Given the description of an element on the screen output the (x, y) to click on. 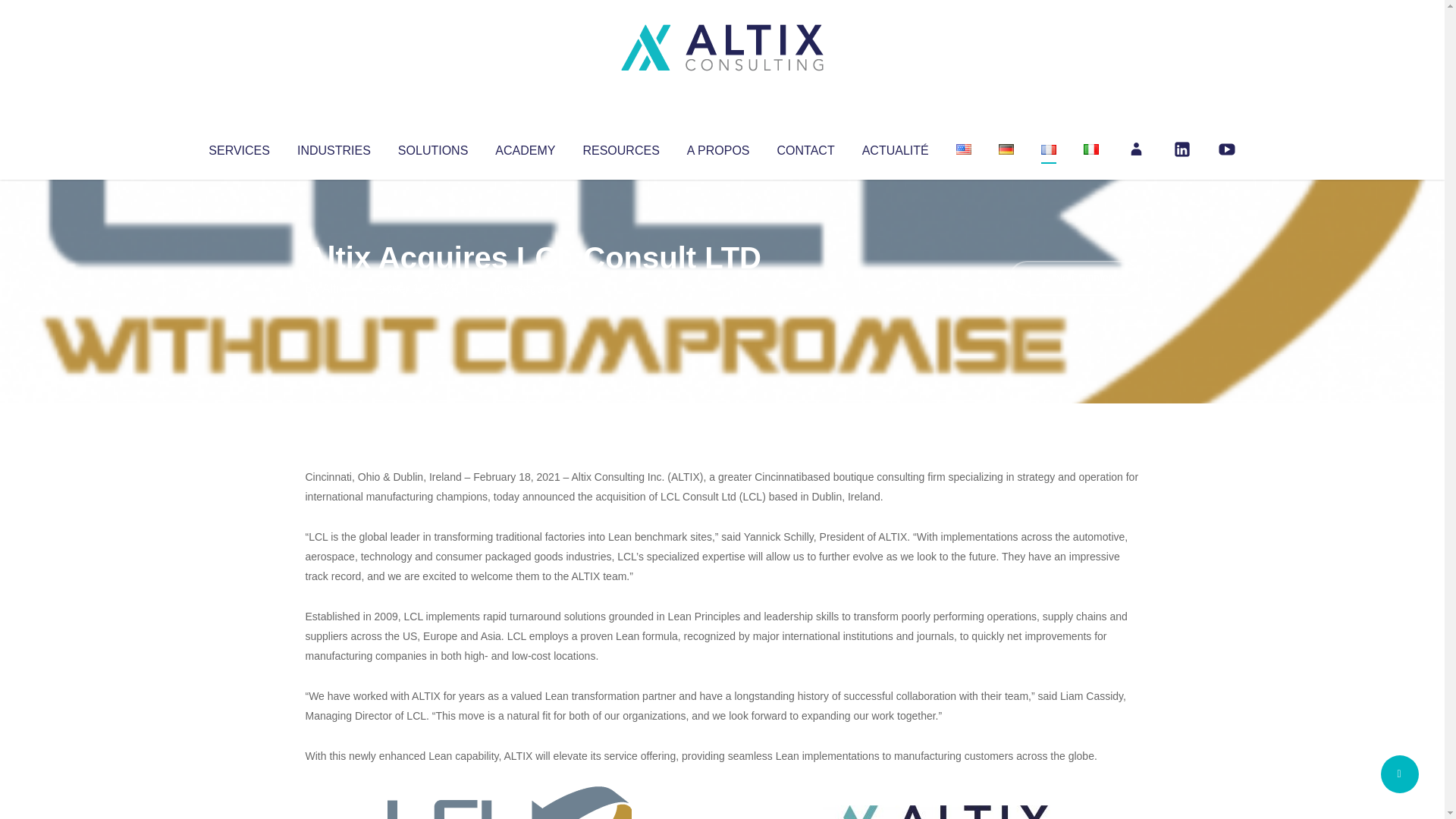
SOLUTIONS (432, 146)
Altix (333, 287)
No Comments (1073, 278)
SERVICES (238, 146)
Articles par Altix (333, 287)
ACADEMY (524, 146)
RESOURCES (620, 146)
A PROPOS (718, 146)
Uncategorized (530, 287)
INDUSTRIES (334, 146)
